Given the description of an element on the screen output the (x, y) to click on. 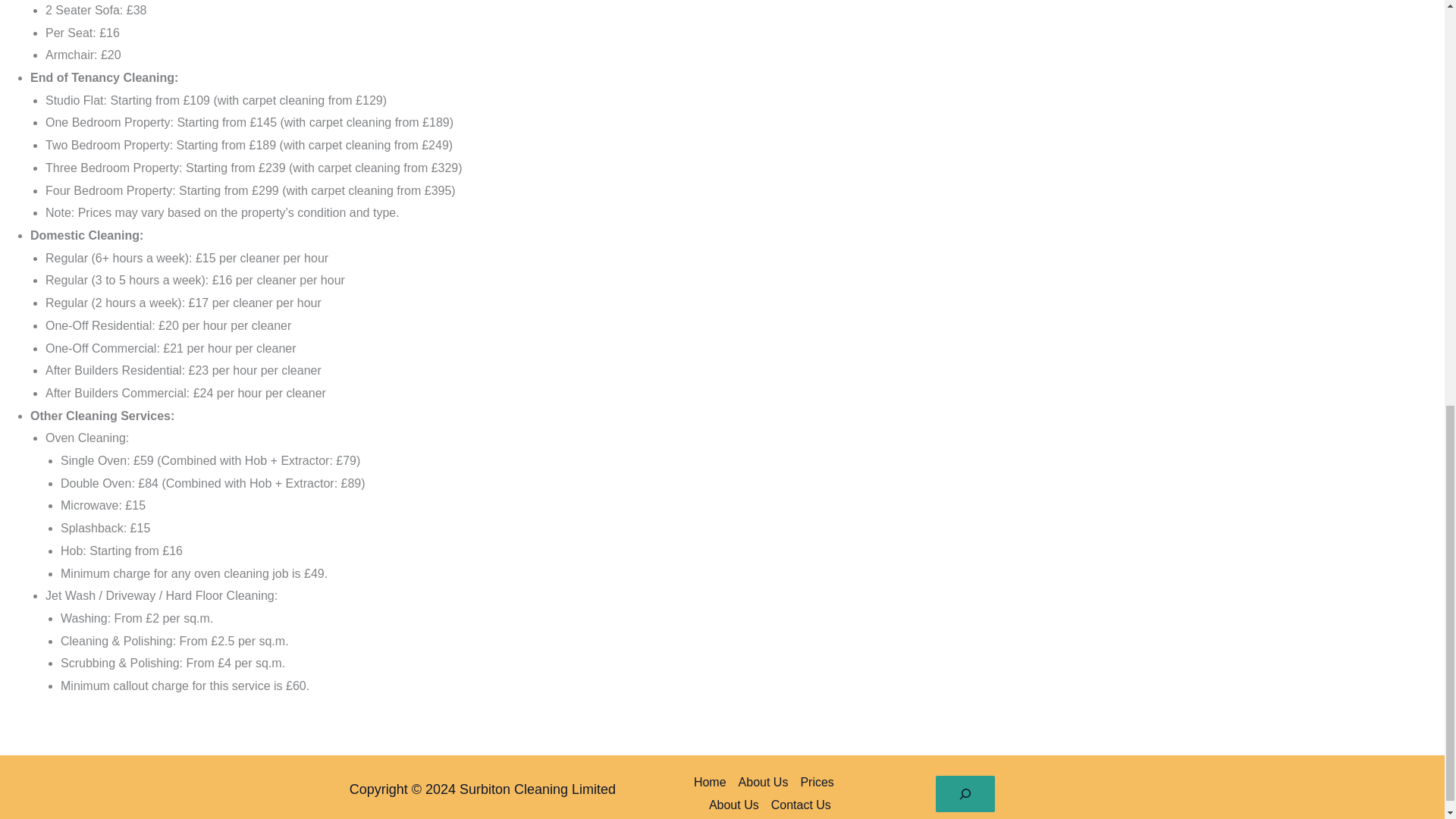
Home (713, 782)
About Us (763, 782)
Prices (816, 782)
